Given the description of an element on the screen output the (x, y) to click on. 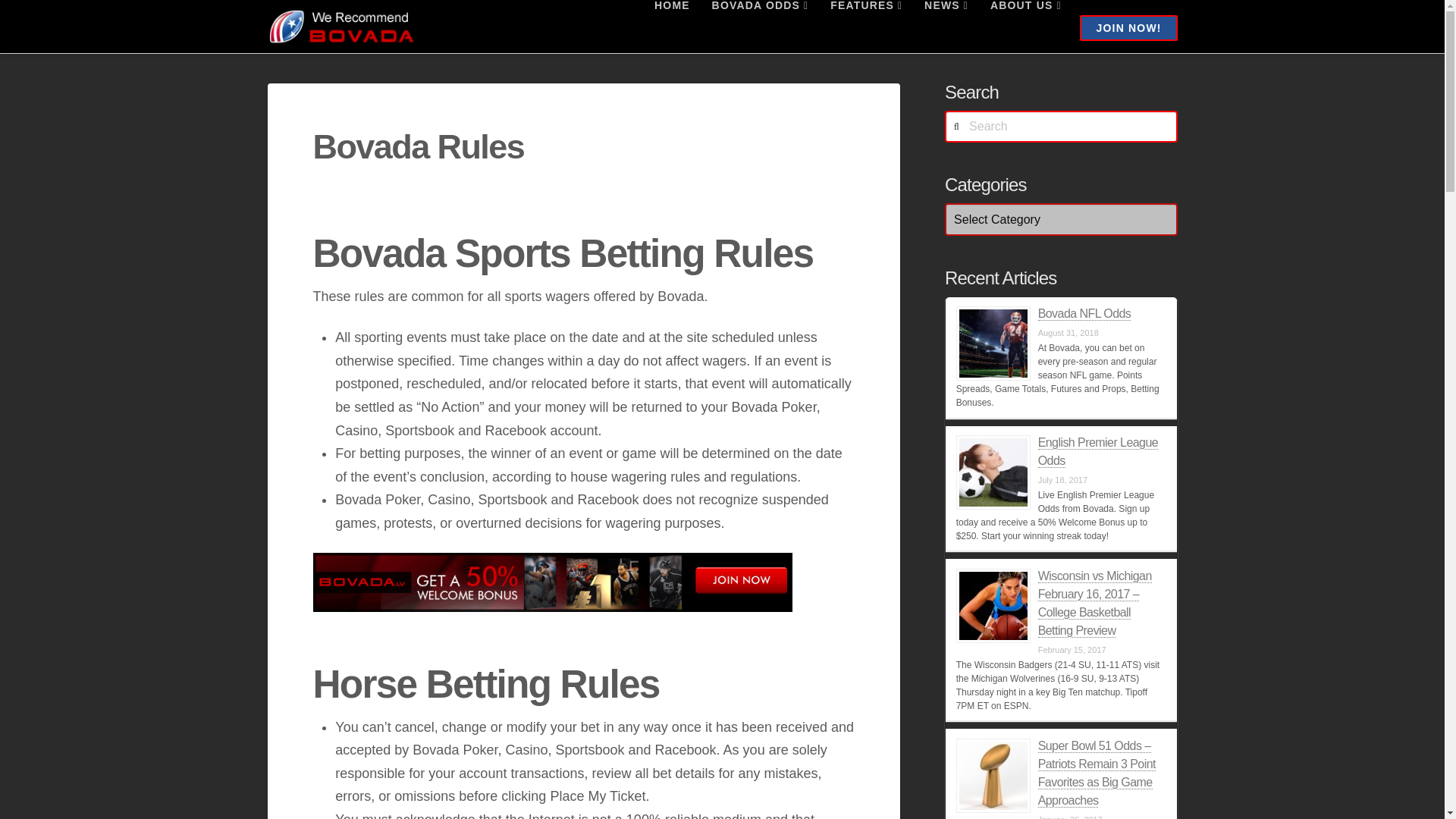
FEATURES (865, 26)
Permalink to English Premier League Odds (1097, 451)
Bovada Rules (552, 581)
NEWS (945, 26)
BOVADA ODDS (759, 26)
HOME (671, 26)
JOIN NOW! (1128, 27)
ABOUT US (1024, 26)
Permalink to Bovada NFL Odds (1084, 314)
